Given the description of an element on the screen output the (x, y) to click on. 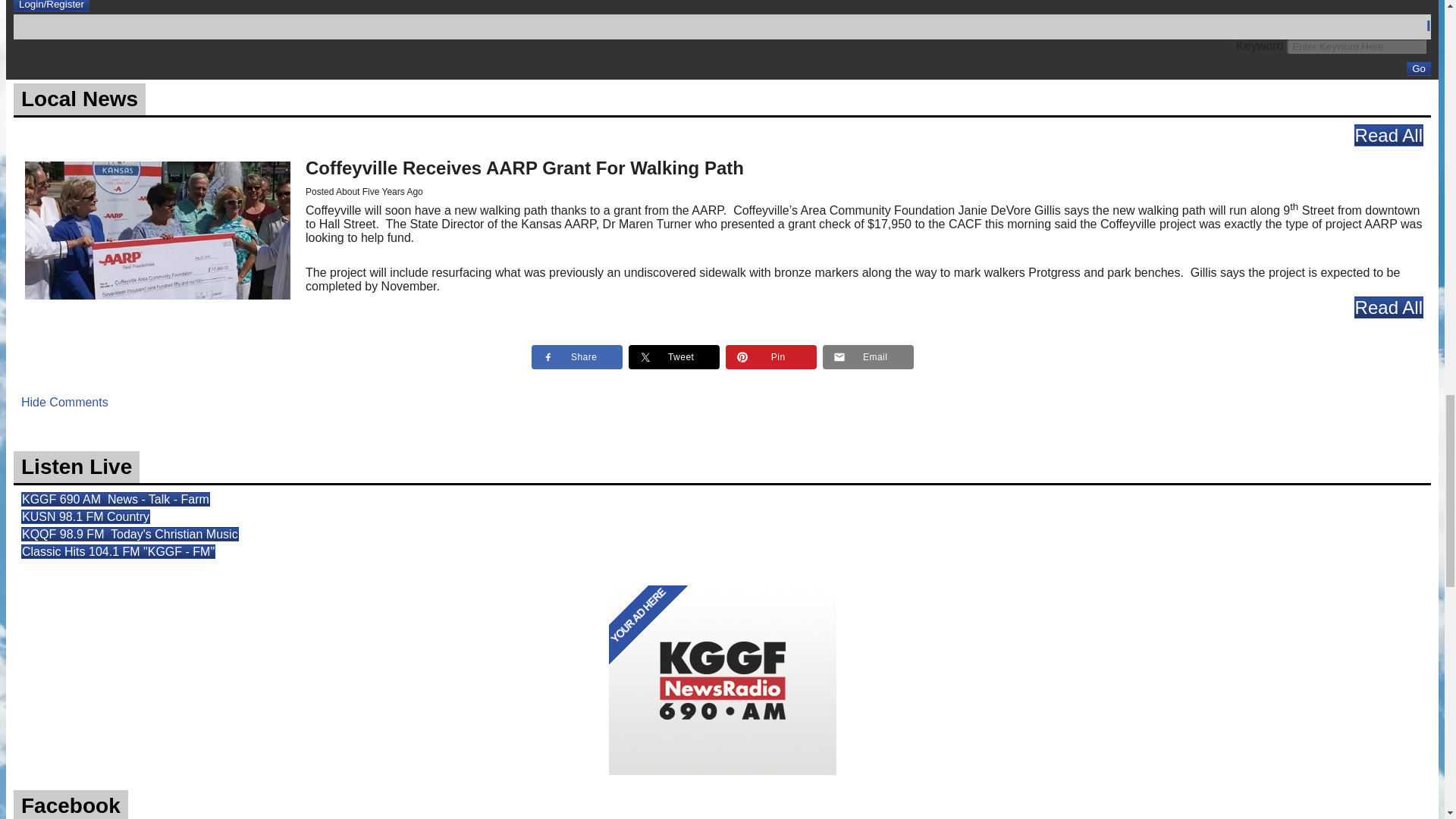
Enter Keyword Here (1356, 46)
Read All (1388, 135)
